Given the description of an element on the screen output the (x, y) to click on. 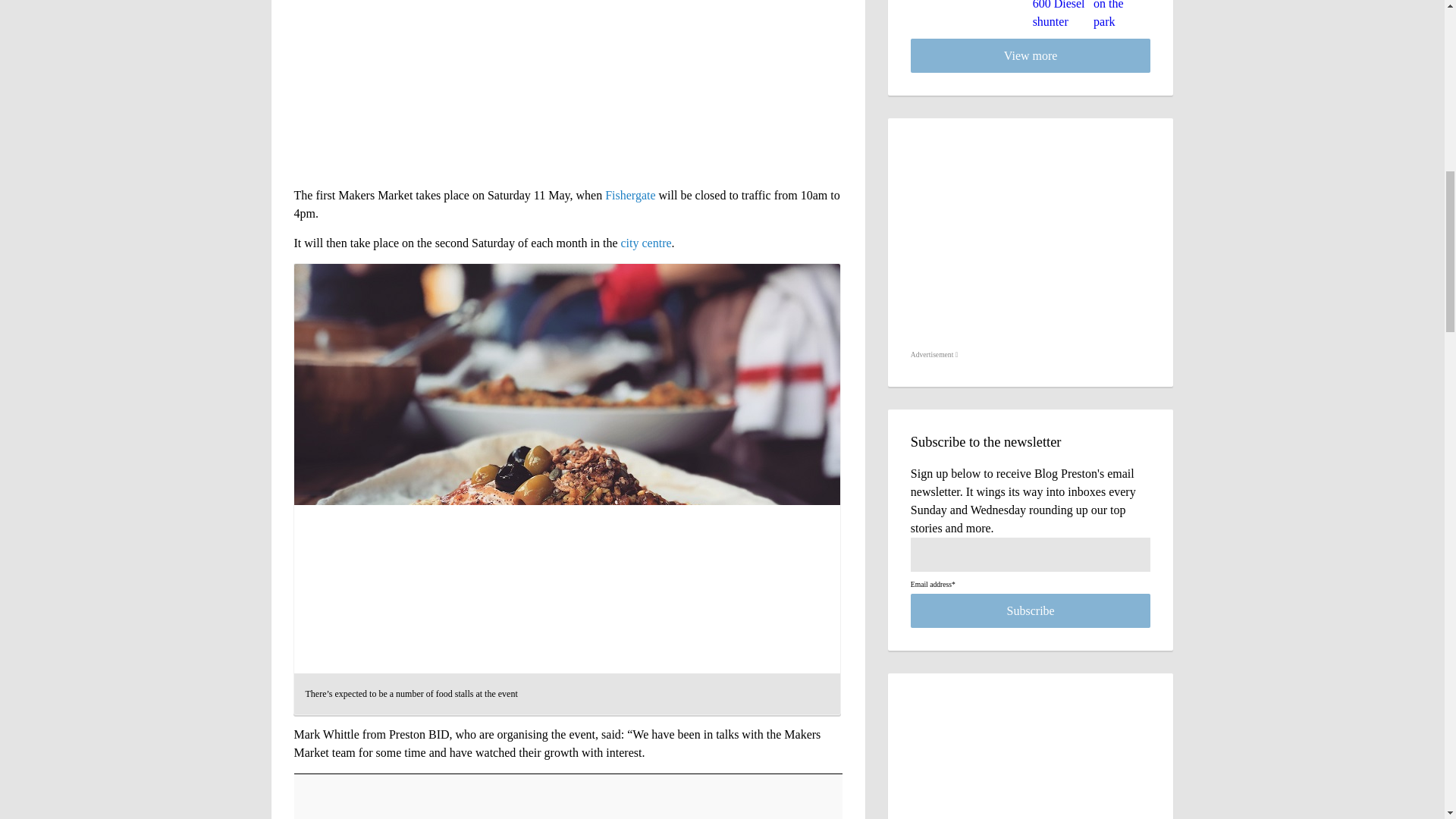
Subscribe (1031, 610)
city centre (645, 242)
Fishergate (630, 195)
